Given the description of an element on the screen output the (x, y) to click on. 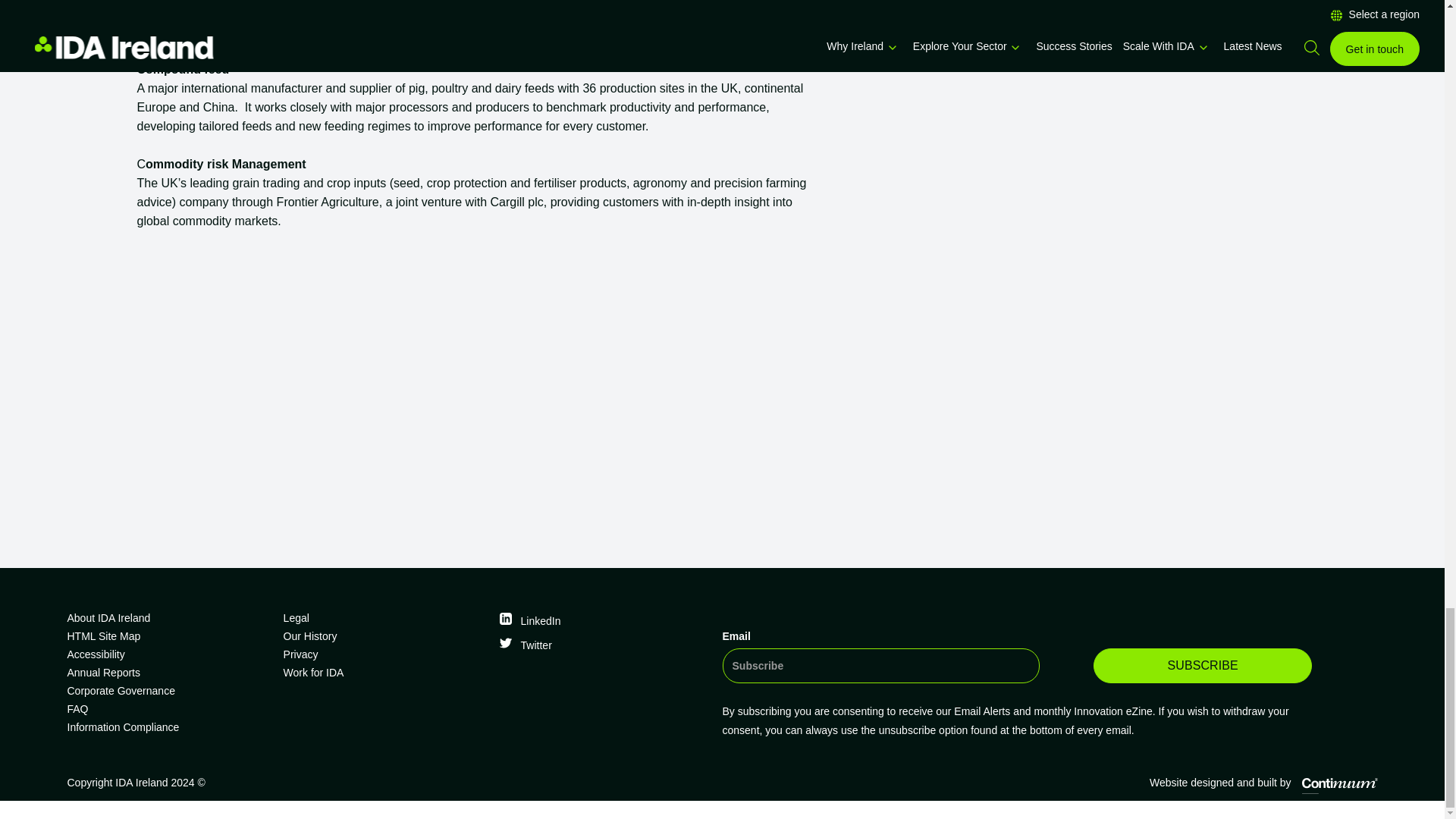
HTML Site Map (167, 636)
Annual Reports (167, 672)
About IDA Ireland (167, 618)
Information Compliance (167, 727)
Our History (384, 636)
Subscribe (1202, 665)
Privacy (384, 654)
Corporate Governance (167, 690)
Accessibility (167, 654)
Work for IDA (384, 672)
FAQ (167, 709)
Legal (384, 618)
